Given the description of an element on the screen output the (x, y) to click on. 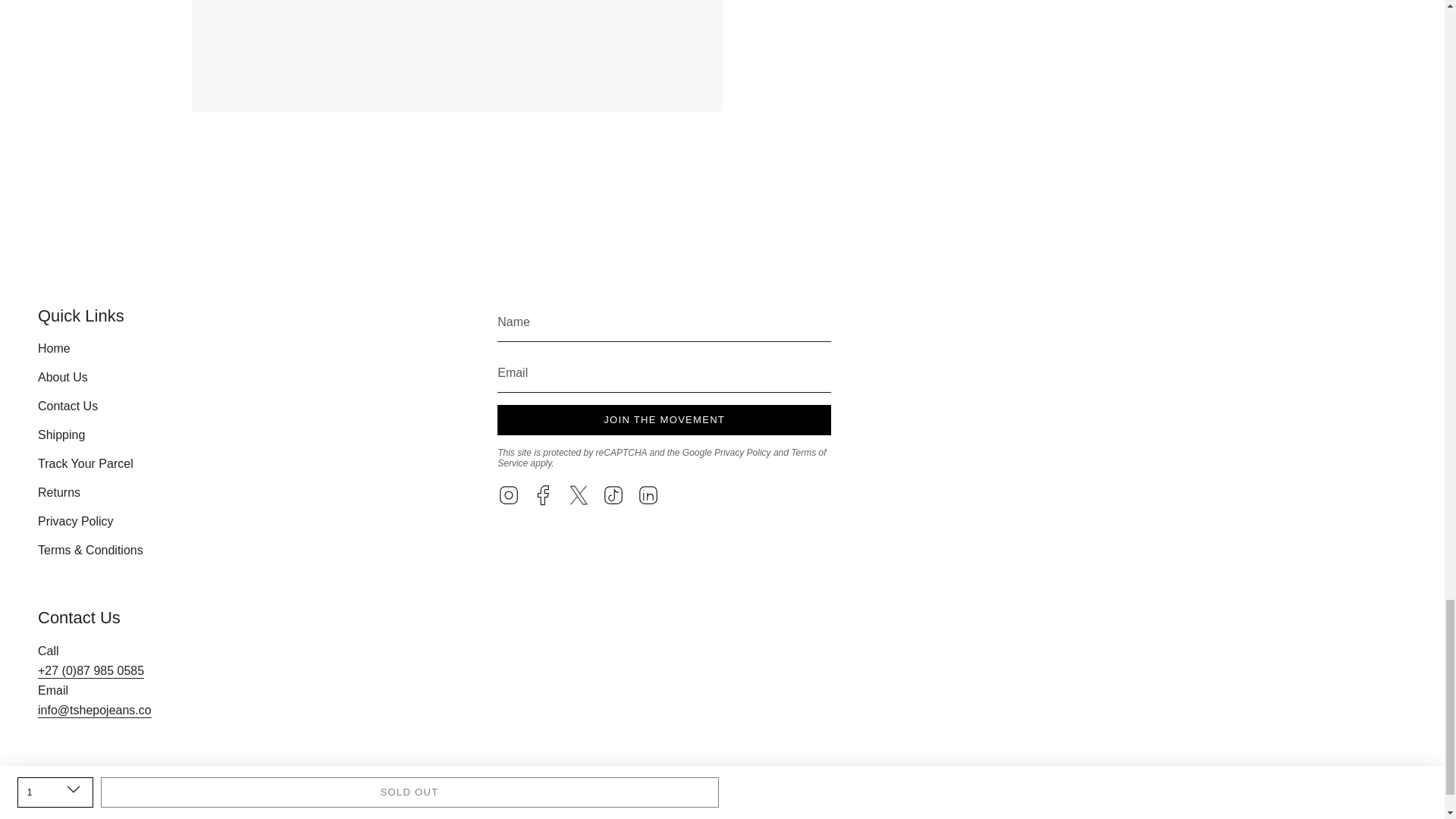
TSHEPO on TikTok (613, 493)
TSHEPO on Facebook (543, 493)
TSHEPO on Twitter (578, 493)
TSHEPO on Instagram (508, 493)
TSHEPO on Linkedin (648, 493)
